Given the description of an element on the screen output the (x, y) to click on. 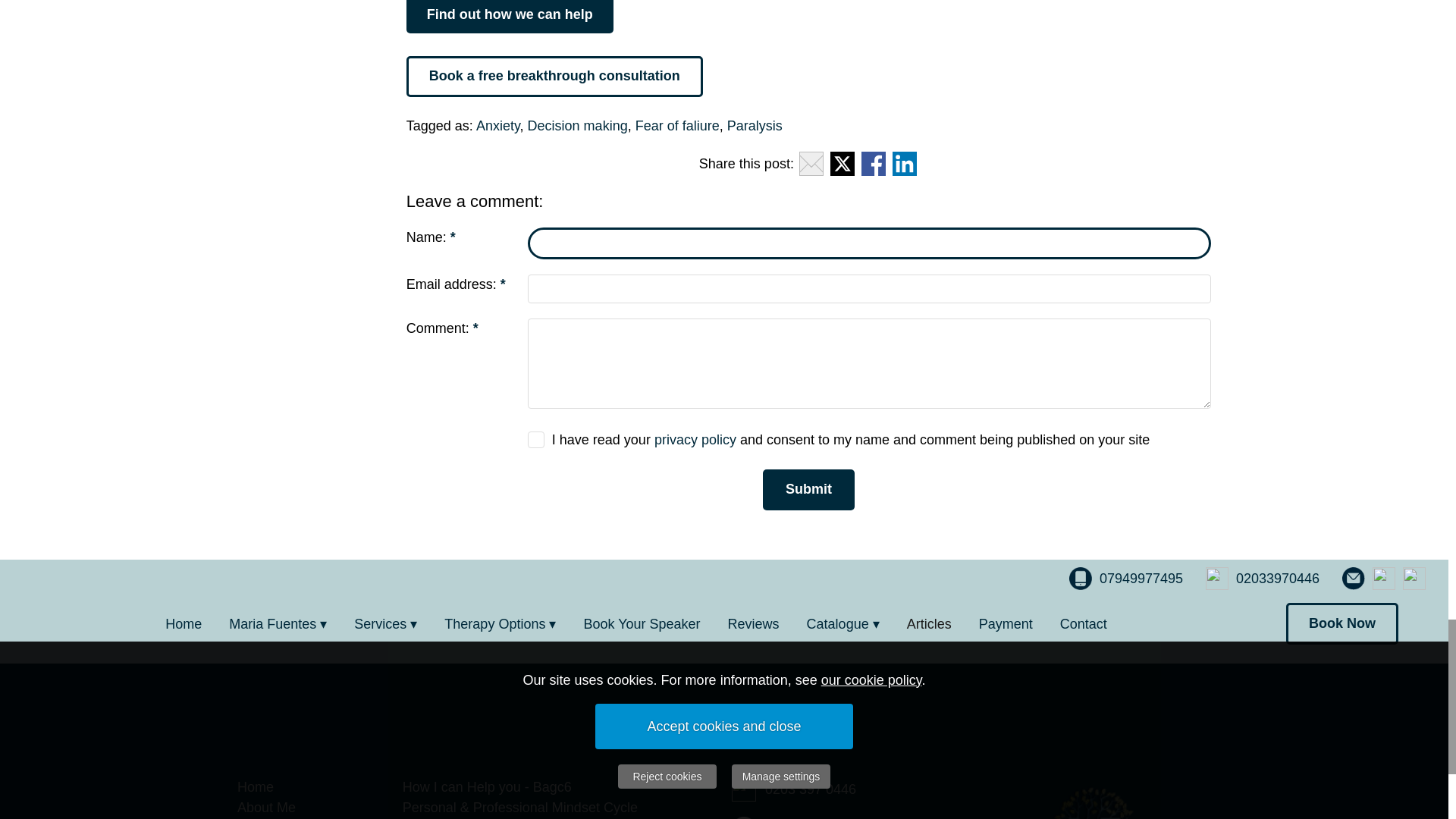
Decision making (577, 125)
Paralysis (754, 125)
Find out how we can help (509, 16)
Book a free breakthrough consultation (554, 76)
Submit (808, 490)
privacy policy (694, 439)
Anxiety (497, 125)
Fear of faliure (676, 125)
